Given the description of an element on the screen output the (x, y) to click on. 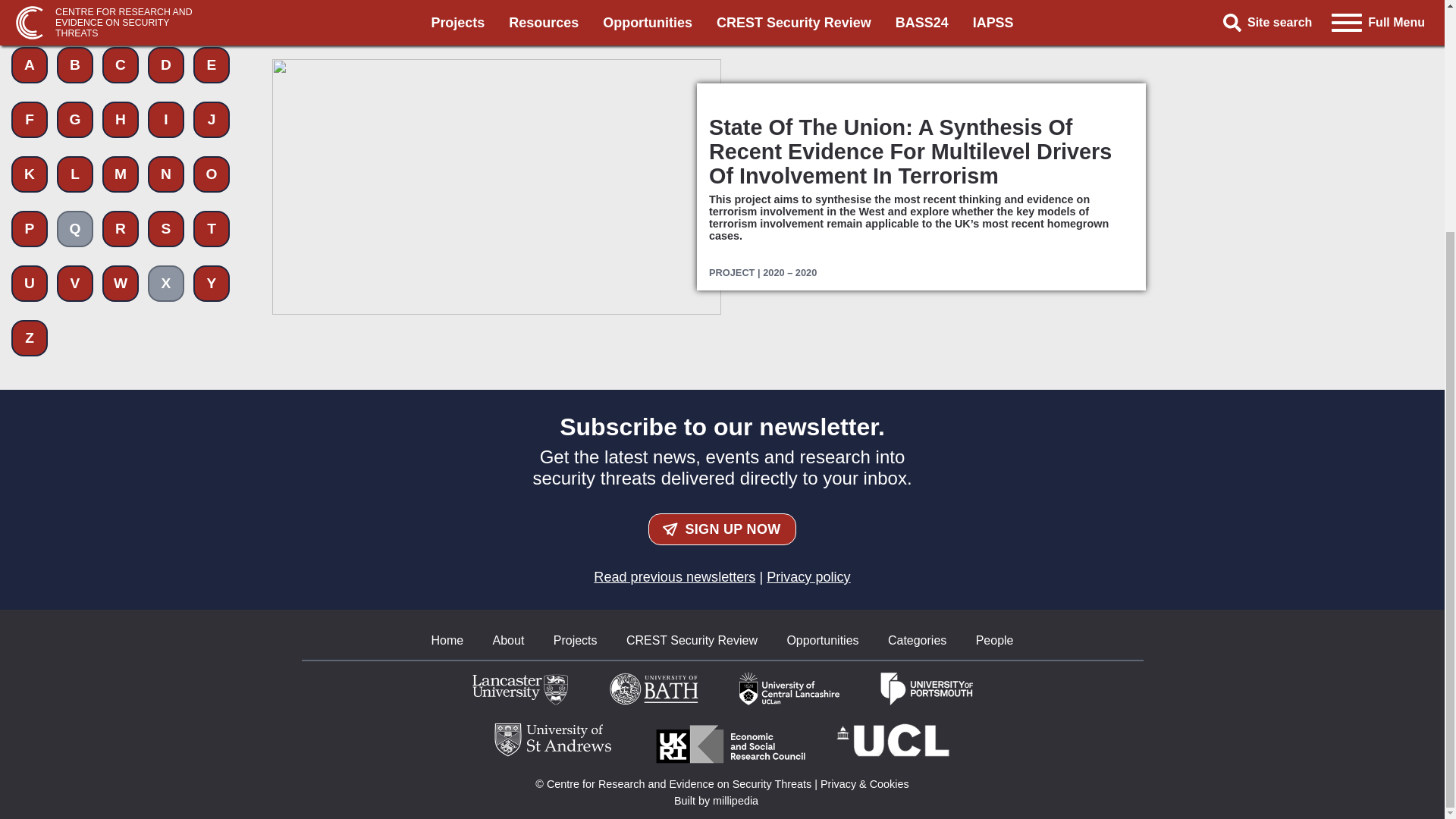
SIGN UP NOW (721, 529)
U (29, 6)
V (74, 6)
Read previous newsletters (674, 576)
Y (211, 6)
W (119, 6)
Z (29, 49)
